Given the description of an element on the screen output the (x, y) to click on. 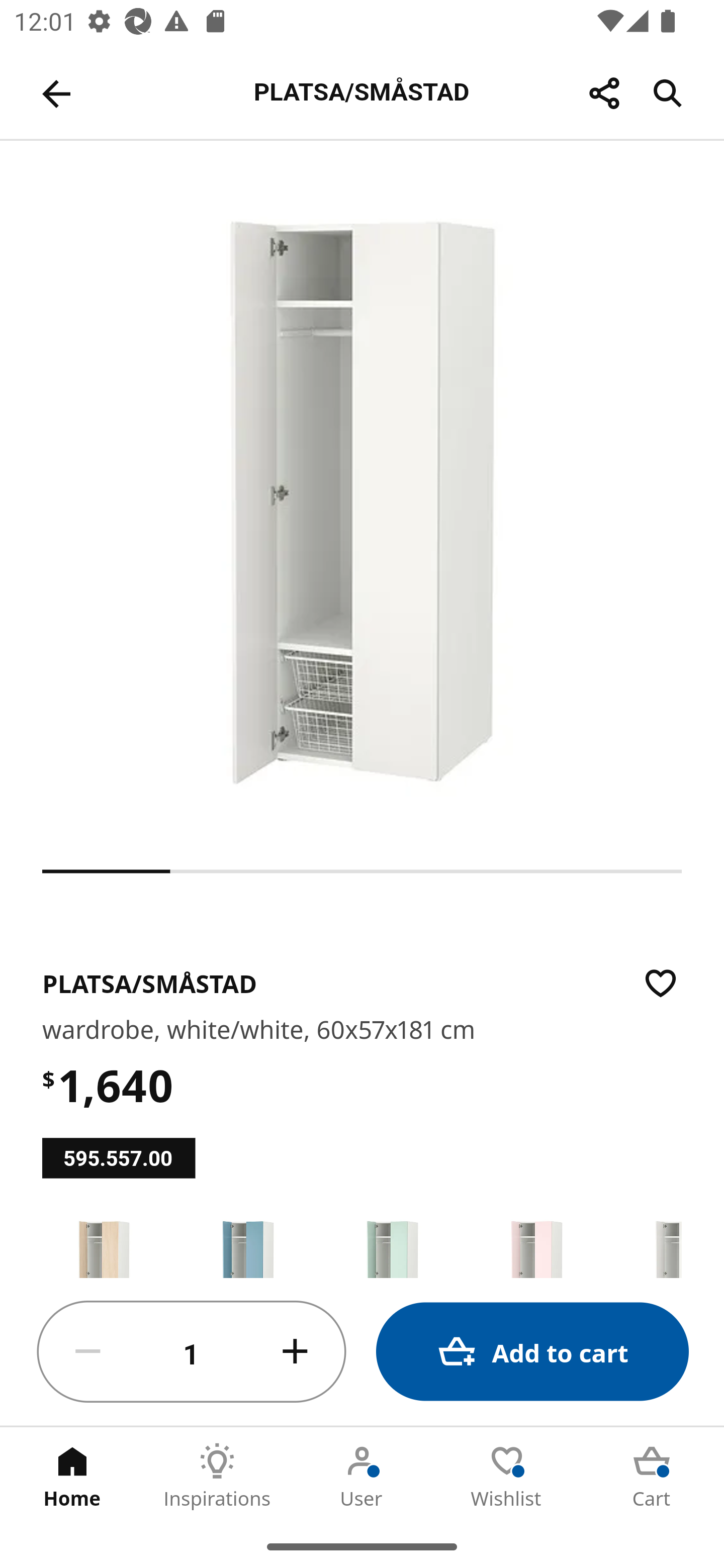
Add to cart (531, 1352)
1 (191, 1352)
Home
Tab 1 of 5 (72, 1476)
Inspirations
Tab 2 of 5 (216, 1476)
User
Tab 3 of 5 (361, 1476)
Wishlist
Tab 4 of 5 (506, 1476)
Cart
Tab 5 of 5 (651, 1476)
